Given the description of an element on the screen output the (x, y) to click on. 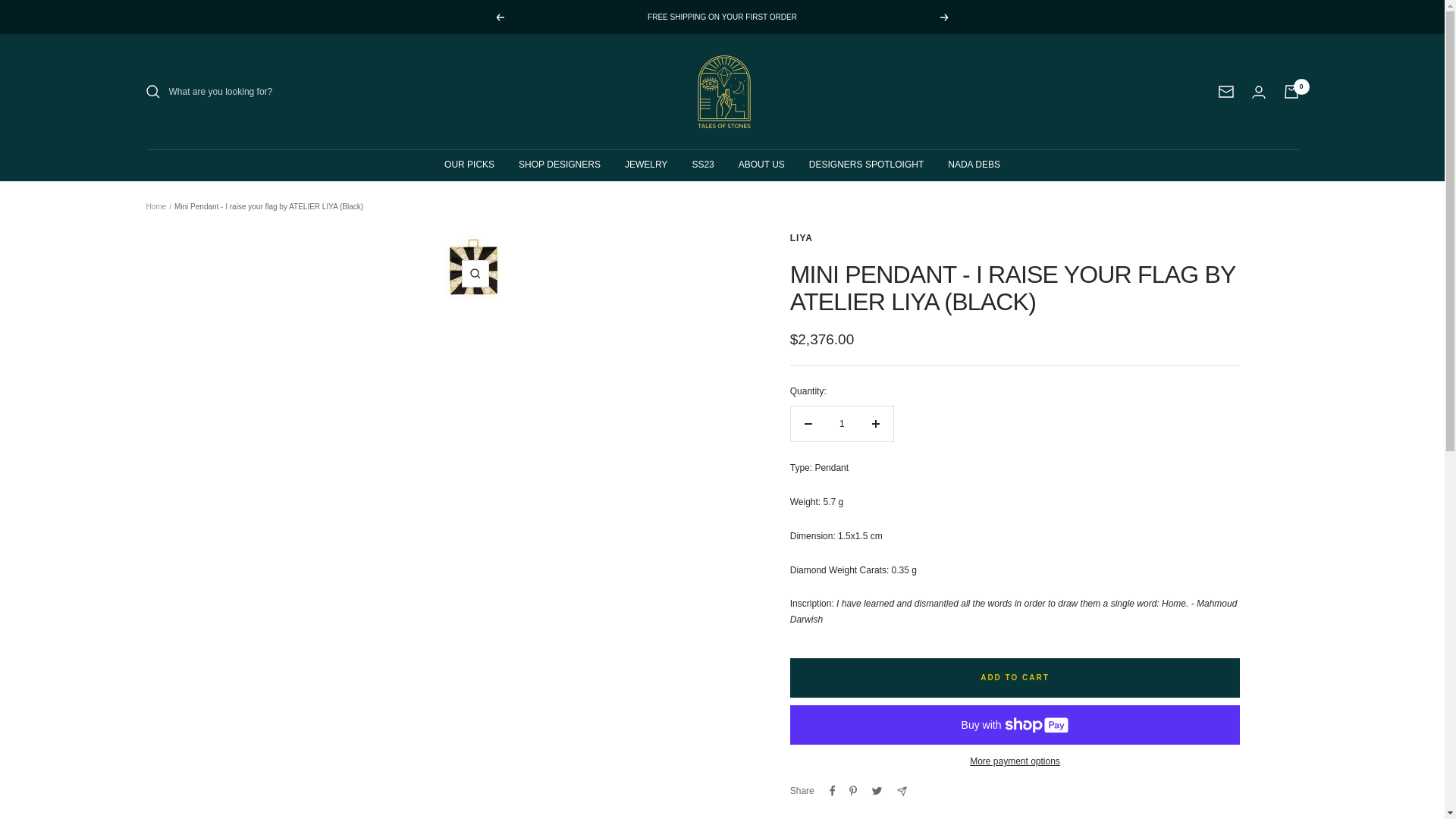
1 (842, 423)
More payment options (1015, 761)
SHOP DESIGNERS (558, 164)
Zoom (475, 273)
Home (155, 206)
LIYA (801, 237)
Decrease quantity (807, 423)
SS23 (702, 164)
Increase quantity (876, 423)
OUR PICKS (469, 164)
Tales of Stones (722, 91)
ADD TO CART (1015, 677)
JEWELRY (645, 164)
0 (1290, 91)
NADA DEBS (973, 164)
